Given the description of an element on the screen output the (x, y) to click on. 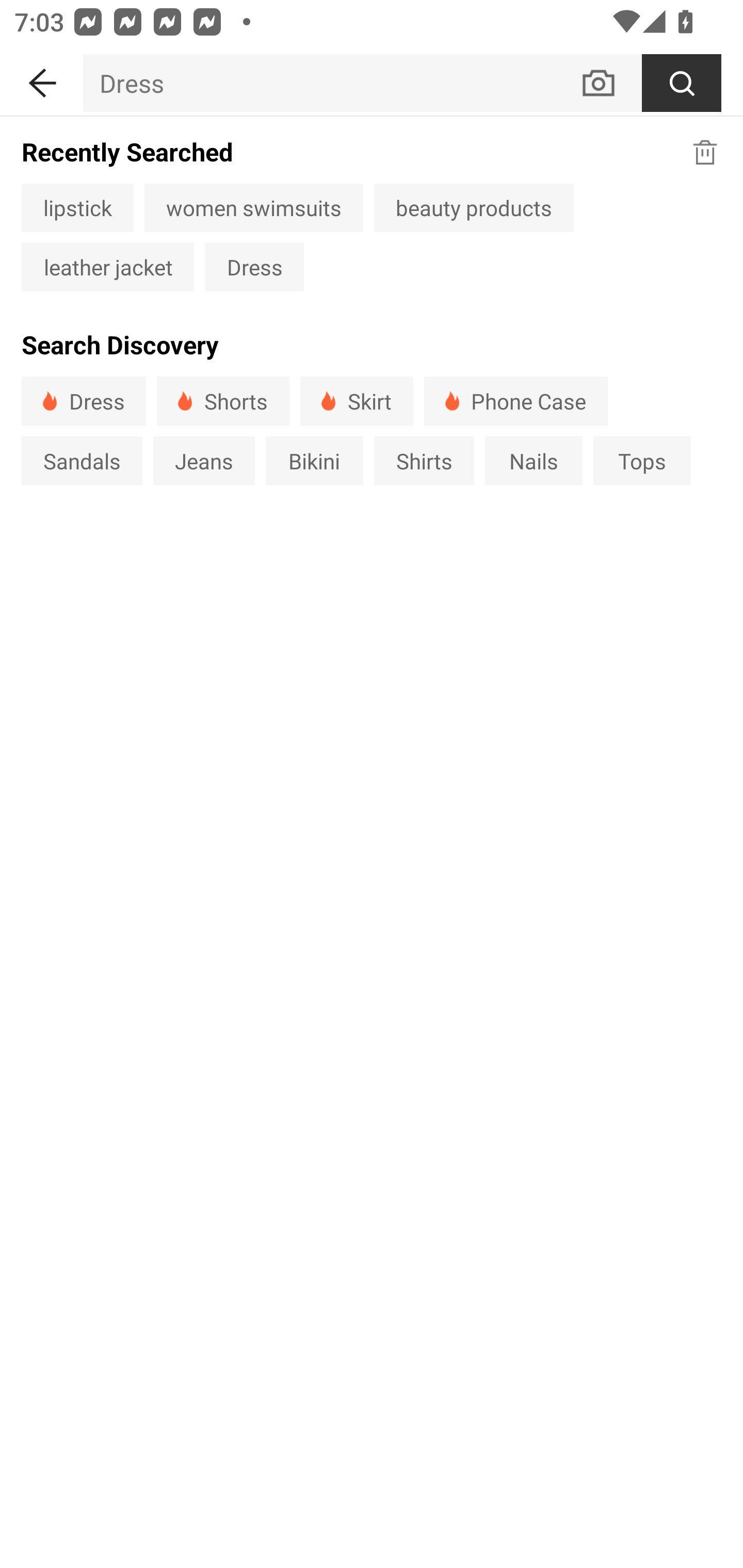
BACK (41, 79)
Dress (330, 82)
lipstick (77, 207)
women swimsuits (253, 207)
beauty products (473, 207)
leather jacket (107, 267)
Dress (254, 267)
Dress (83, 400)
Shorts (222, 400)
Skirt (356, 400)
Phone Case (515, 400)
Sandals (81, 460)
Jeans (203, 460)
Bikini (314, 460)
Shirts (423, 460)
Nails (533, 460)
Tops (641, 460)
